Given the description of an element on the screen output the (x, y) to click on. 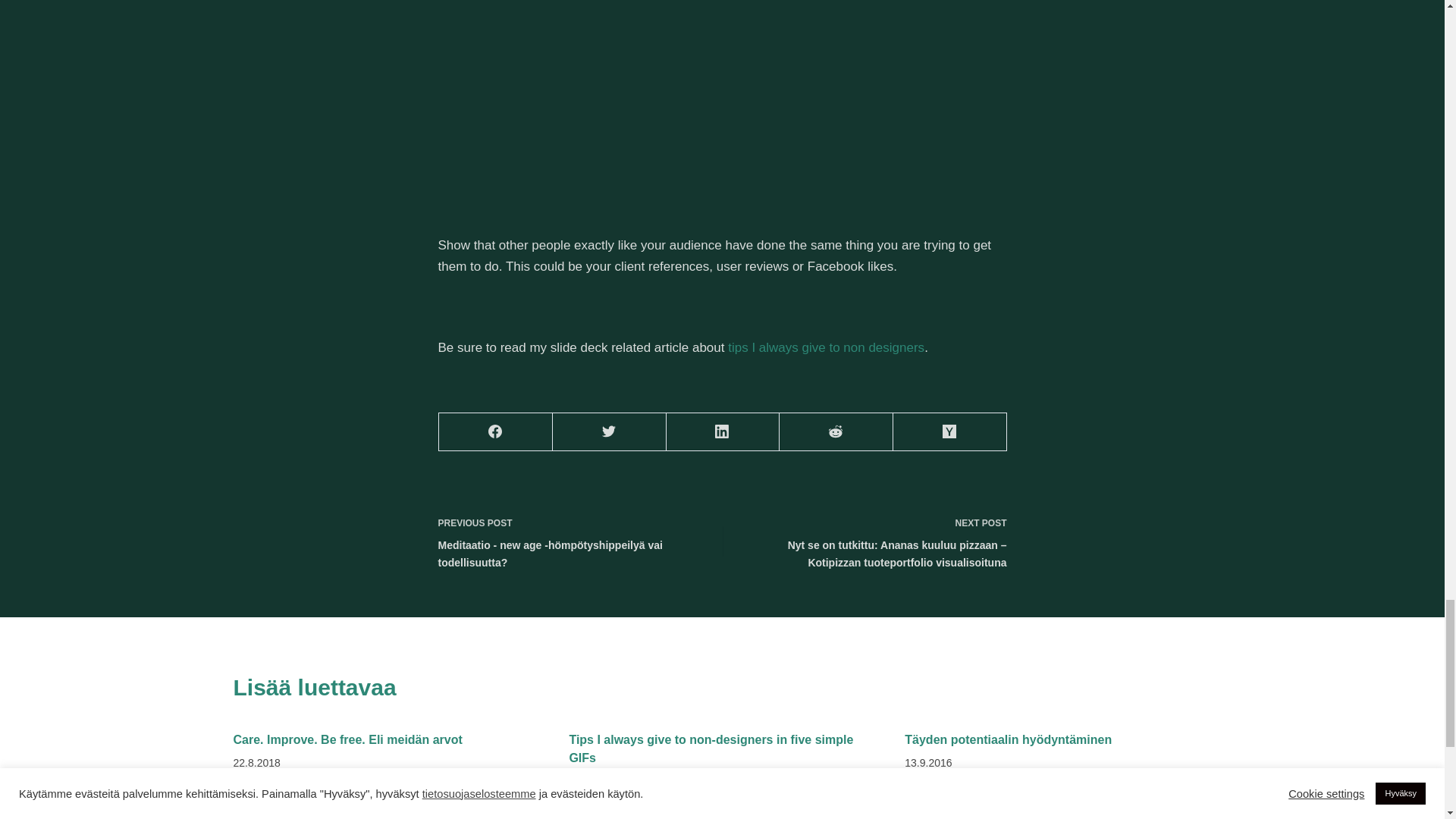
Tips I always give to non-designers in five simple GIFs (711, 748)
tips I always give to non designers (826, 347)
